Given the description of an element on the screen output the (x, y) to click on. 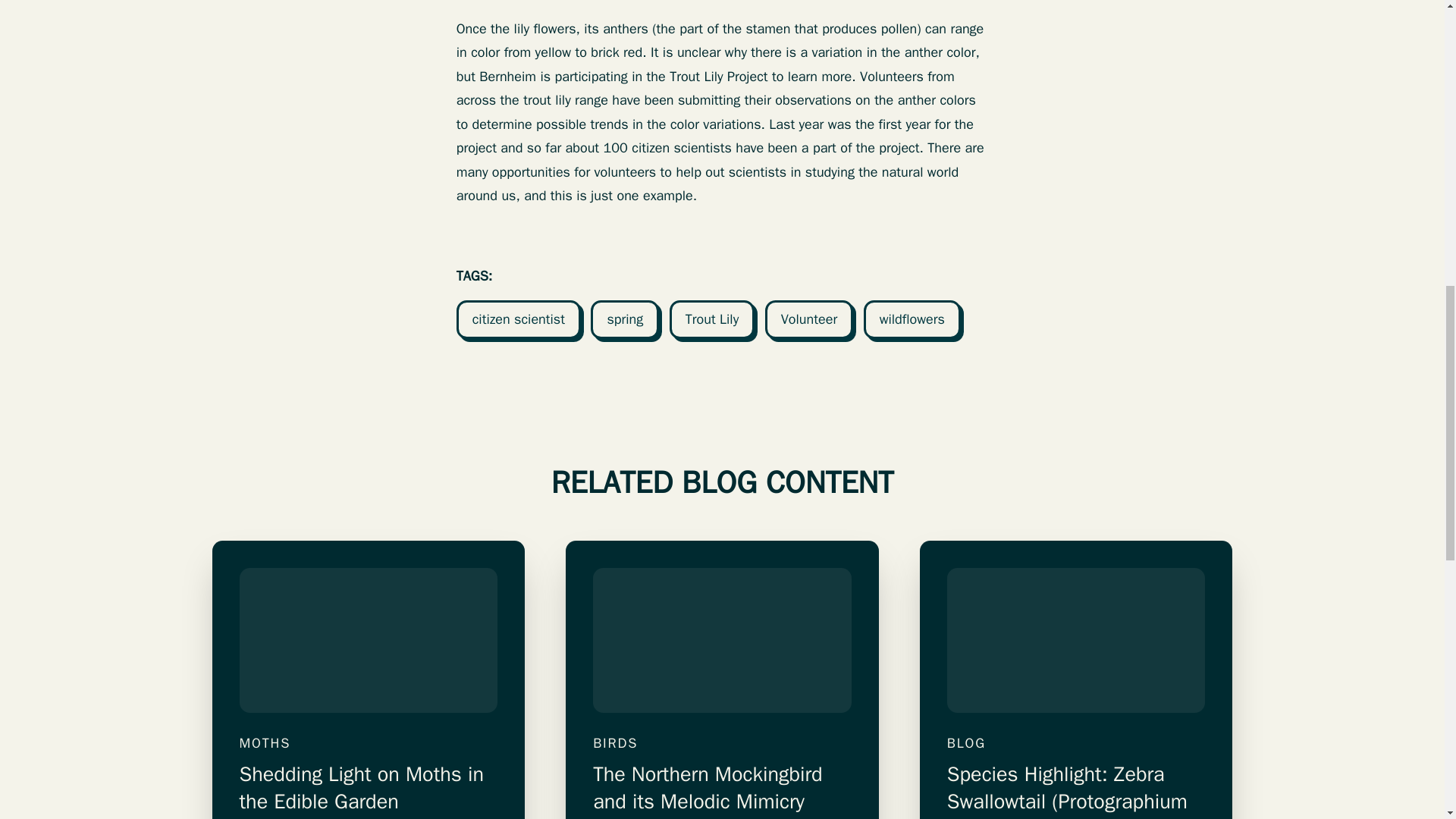
citizen scientist (518, 319)
Shedding Light on Moths in the Edible Garden (368, 789)
BIRDS (721, 743)
MOTHS (368, 743)
wildflowers (911, 319)
Volunteer (809, 319)
BLOG (1076, 743)
spring (625, 319)
Trout Lily (711, 319)
The Northern Mockingbird and its Melodic Mimicry (721, 789)
